Given the description of an element on the screen output the (x, y) to click on. 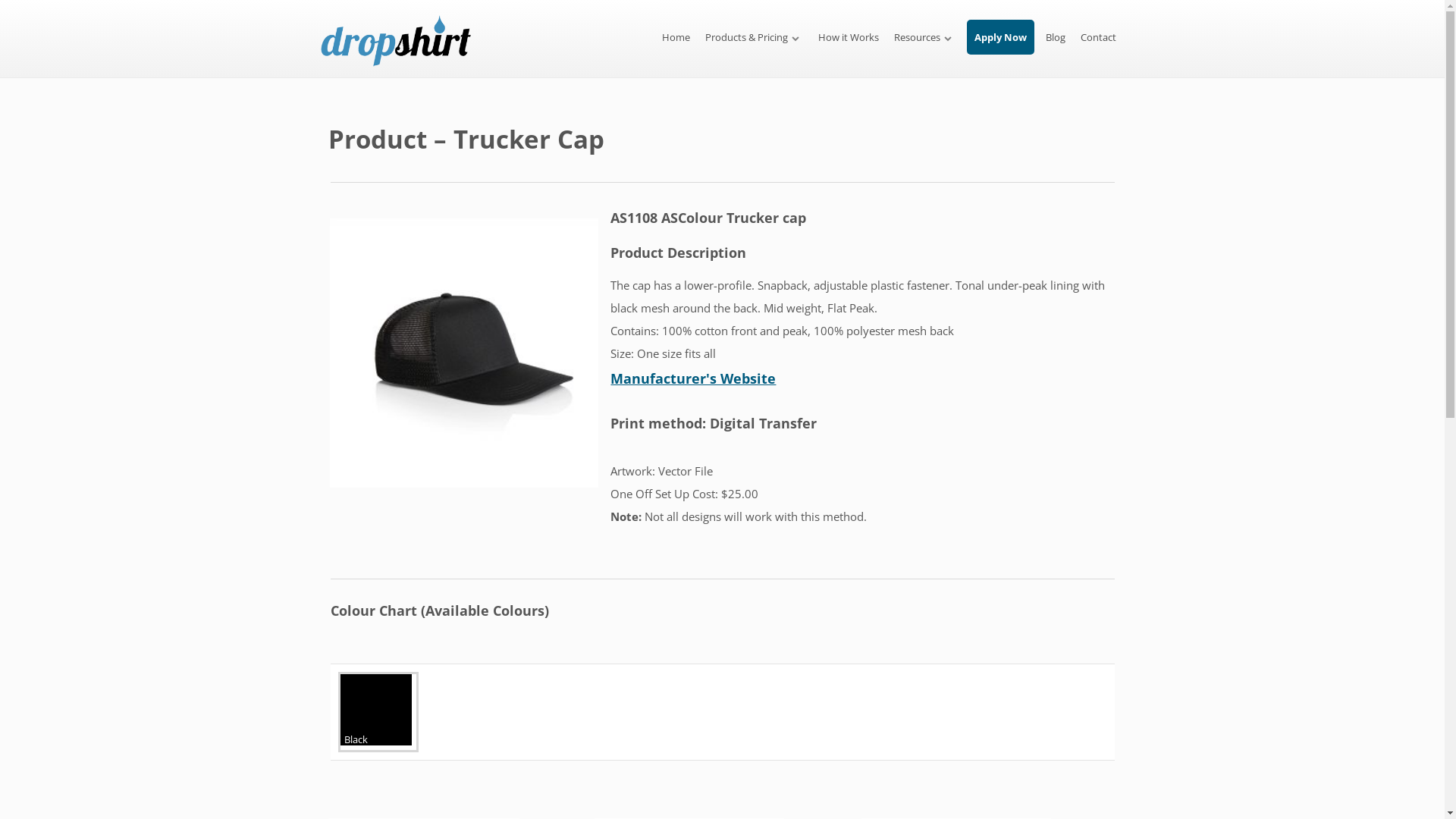
Blog Element type: text (1055, 37)
Contact Element type: text (1098, 37)
Products & Pricing Element type: text (754, 37)
as1108-trucker-preview Element type: hover (463, 352)
Apply Now Element type: text (1000, 36)
How it Works Element type: text (848, 37)
Resources Element type: text (924, 37)
Home Element type: text (676, 37)
Manufacturer's Website Element type: text (692, 378)
